Given the description of an element on the screen output the (x, y) to click on. 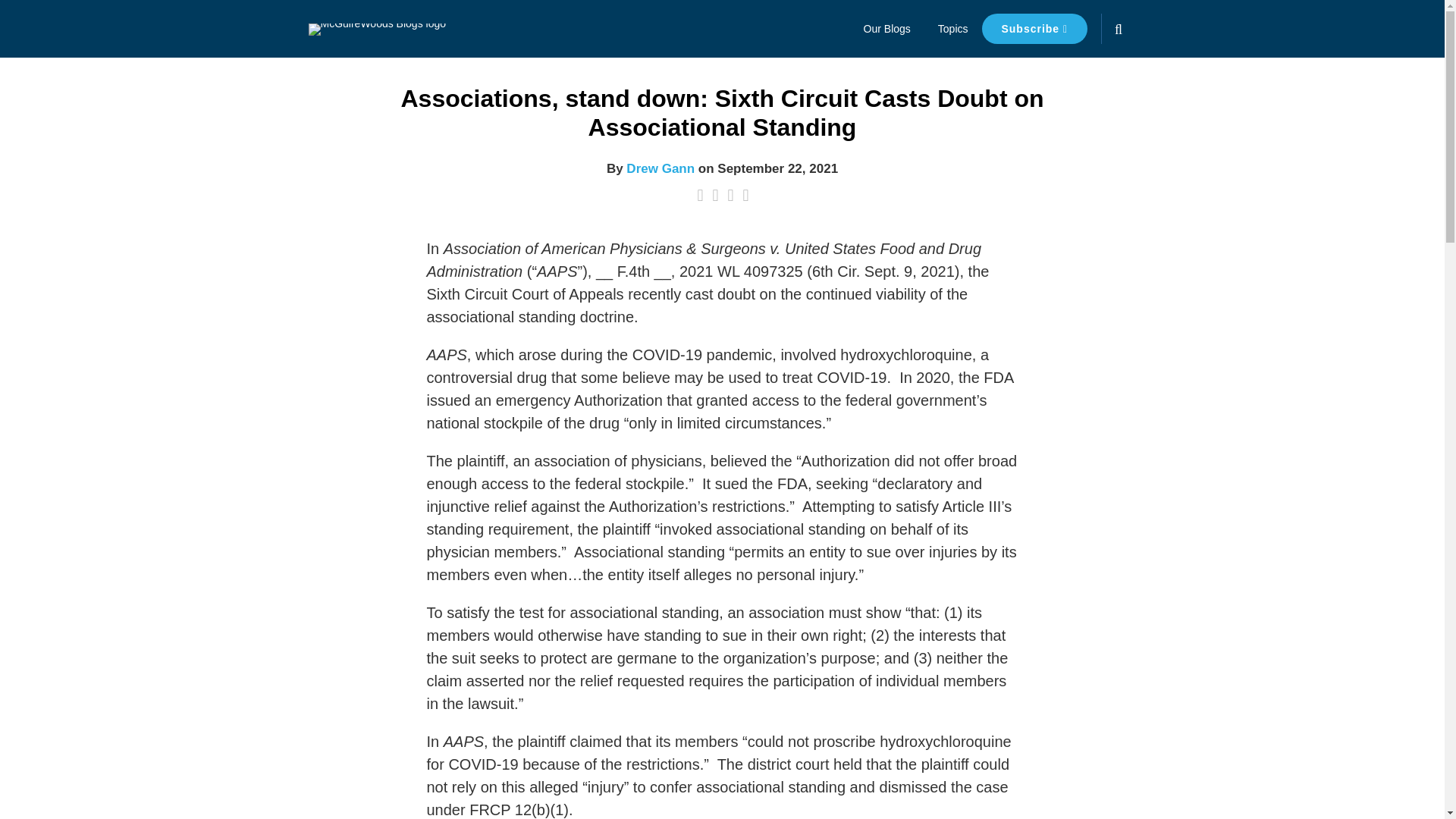
Subscribe (1034, 28)
Topics (952, 28)
Drew Gann (660, 168)
Our Blogs (887, 28)
